Given the description of an element on the screen output the (x, y) to click on. 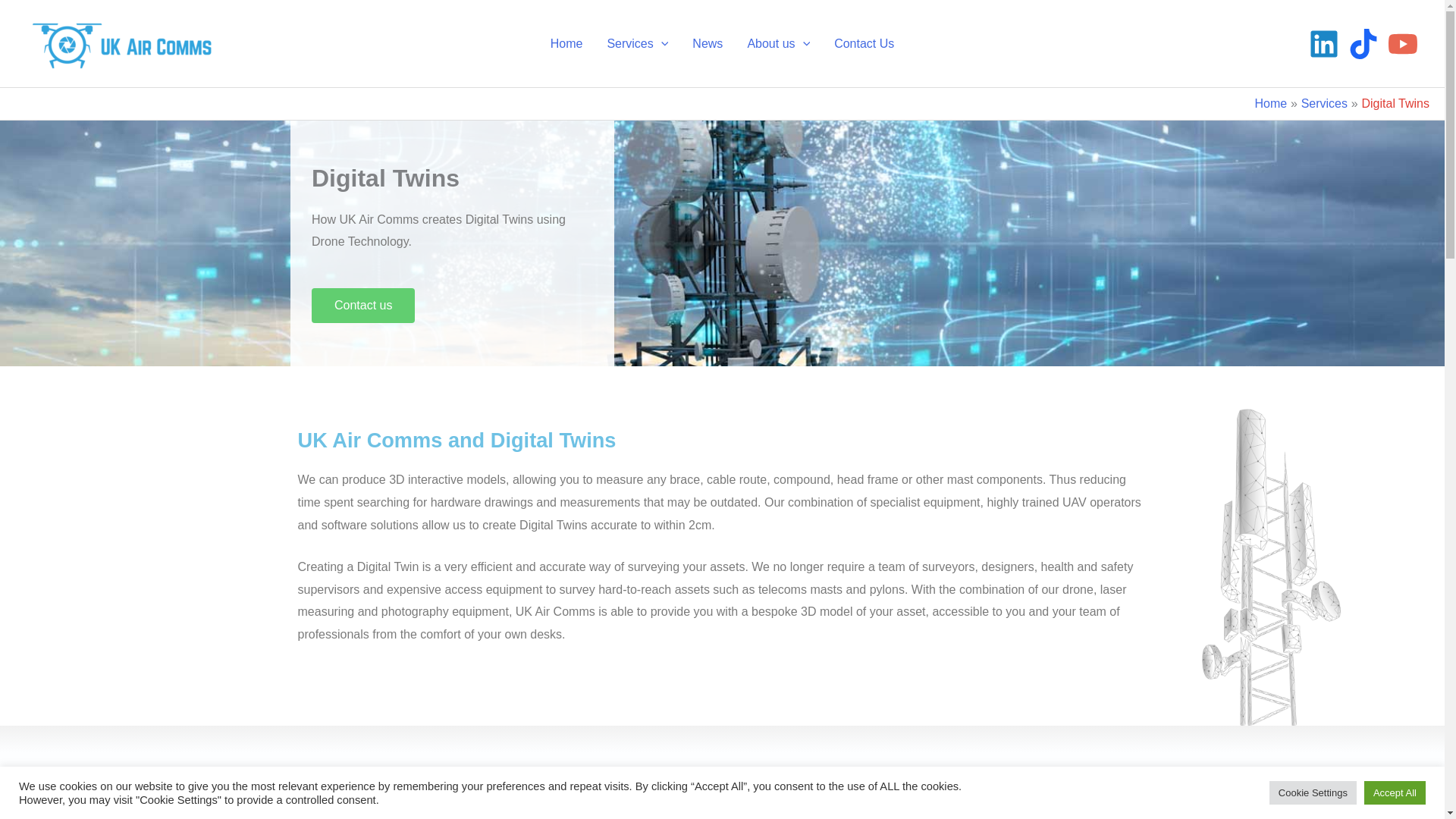
News (707, 42)
Services (636, 42)
Contact Us (863, 42)
About us (778, 42)
Home (566, 42)
Home (1270, 103)
